Given the description of an element on the screen output the (x, y) to click on. 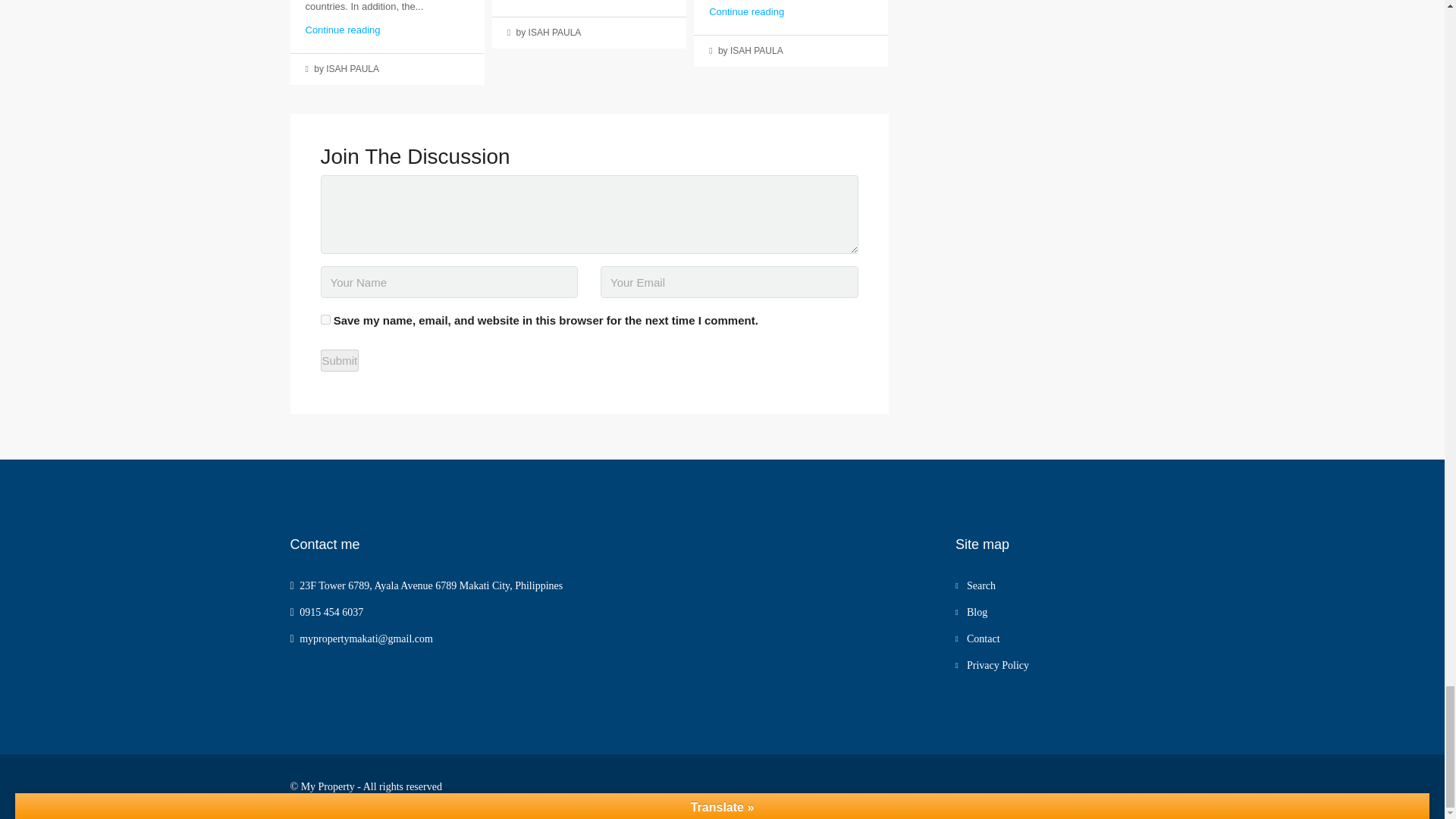
yes (325, 319)
Continue reading (746, 11)
Continue reading (342, 30)
Submit (339, 360)
